Given the description of an element on the screen output the (x, y) to click on. 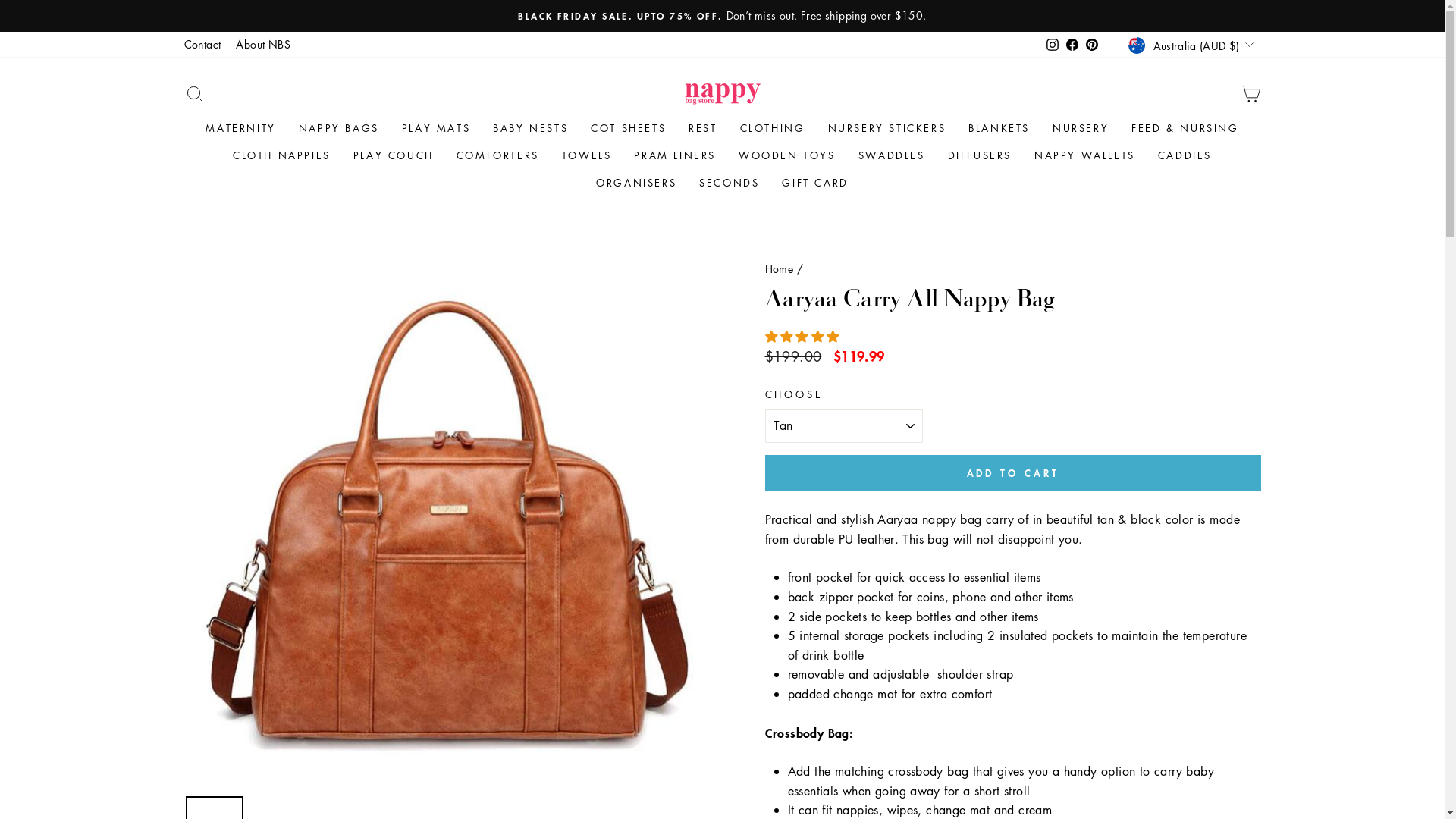
CLOTH NAPPIES Element type: text (281, 155)
NAPPY WALLETS Element type: text (1084, 155)
NURSERY Element type: text (1080, 128)
ADD TO CART Element type: text (1012, 473)
Contact Element type: text (201, 44)
PLAY MATS Element type: text (435, 128)
BLANKETS Element type: text (999, 128)
TOWELS Element type: text (586, 155)
COMFORTERS Element type: text (497, 155)
Pinterest Element type: text (1091, 44)
COT SHEETS Element type: text (628, 128)
FEED & NURSING Element type: text (1184, 128)
GIFT CARD Element type: text (814, 183)
SEARCH Element type: text (193, 94)
NAPPY BAGS Element type: text (338, 128)
NURSERY STICKERS Element type: text (886, 128)
SECONDS Element type: text (728, 183)
MATERNITY Element type: text (240, 128)
Australia (AUD $) Element type: text (1192, 44)
ORGANISERS Element type: text (635, 183)
Home Element type: text (778, 268)
CLOTHING Element type: text (772, 128)
PRAM LINERS Element type: text (674, 155)
SWADDLES Element type: text (891, 155)
BABY NESTS Element type: text (530, 128)
WOODEN TOYS Element type: text (787, 155)
About NBS Element type: text (263, 44)
PLAY COUCH Element type: text (393, 155)
Facebook Element type: text (1072, 44)
Instagram Element type: text (1052, 44)
CADDIES Element type: text (1184, 155)
REST Element type: text (702, 128)
CART Element type: text (1249, 94)
Skip to content Element type: text (0, 0)
DIFFUSERS Element type: text (979, 155)
